Given the description of an element on the screen output the (x, y) to click on. 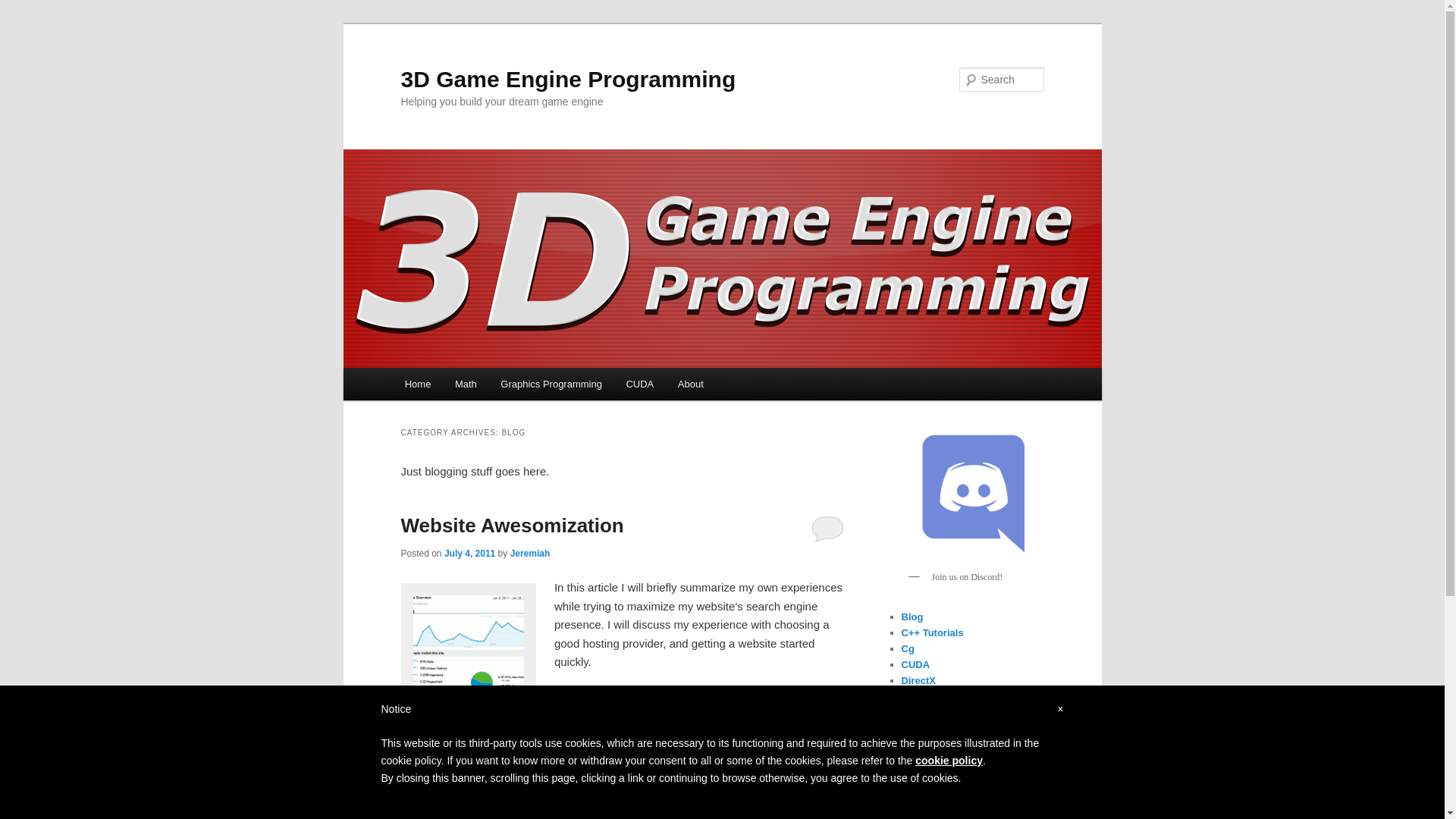
Facebook Element type: text (661, 716)
Jeremiah Element type: text (530, 553)
Math Element type: text (911, 776)
July 4, 2011 Element type: text (469, 553)
Graphics Programming Element type: text (551, 383)
DirectX 12 Element type: text (924, 696)
Math Element type: text (465, 383)
Cg Element type: text (906, 648)
Home Element type: text (417, 383)
Graphics Programming Element type: text (955, 760)
cookie policy Element type: text (948, 760)
Blog Element type: text (911, 616)
General Purpose GPU Programming Element type: text (952, 720)
CUDA Element type: text (639, 383)
GLSL Element type: text (913, 744)
Search Element type: text (24, 8)
Skip to primary content Element type: text (22, 22)
OpenCL Element type: text (919, 792)
Twitter Element type: text (726, 716)
Website Awesomization Element type: text (511, 525)
CUDA Element type: text (914, 664)
DirectX Element type: text (917, 680)
3D Game Engine Programming Element type: text (567, 78)
About Element type: text (690, 383)
C++ Tutorials Element type: text (931, 632)
OpenGL Element type: text (919, 808)
Google Analytics Element type: hover (468, 650)
